Given the description of an element on the screen output the (x, y) to click on. 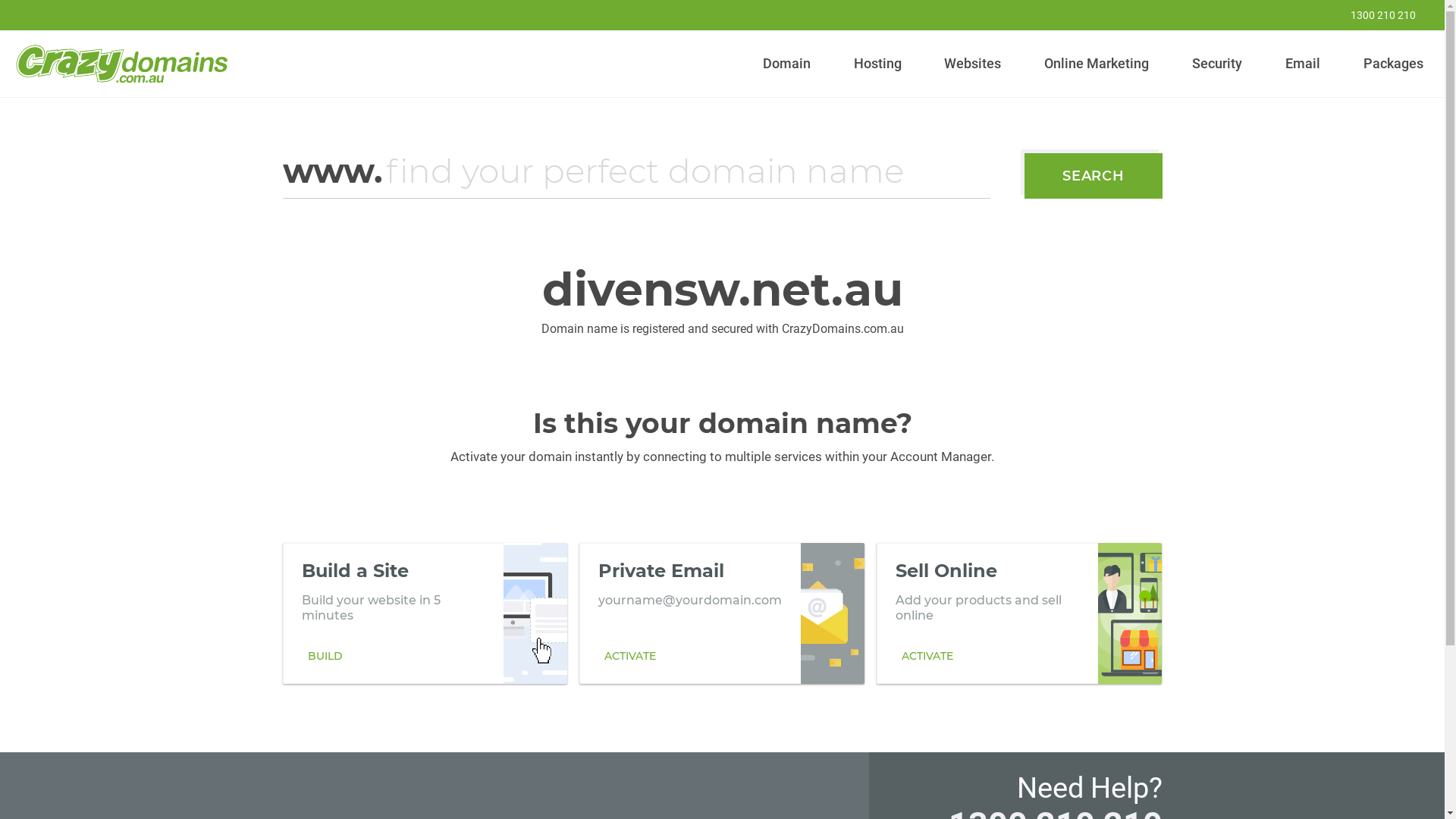
Hosting Element type: text (877, 63)
Private Email
yourname@yourdomain.com
ACTIVATE Element type: text (721, 613)
SEARCH Element type: text (1092, 175)
Build a Site
Build your website in 5 minutes
BUILD Element type: text (424, 613)
Online Marketing Element type: text (1096, 63)
Sell Online
Add your products and sell online
ACTIVATE Element type: text (1018, 613)
Websites Element type: text (972, 63)
Security Element type: text (1217, 63)
Packages Element type: text (1392, 63)
1300 210 210 Element type: text (1373, 15)
Domain Element type: text (786, 63)
Email Element type: text (1302, 63)
